Given the description of an element on the screen output the (x, y) to click on. 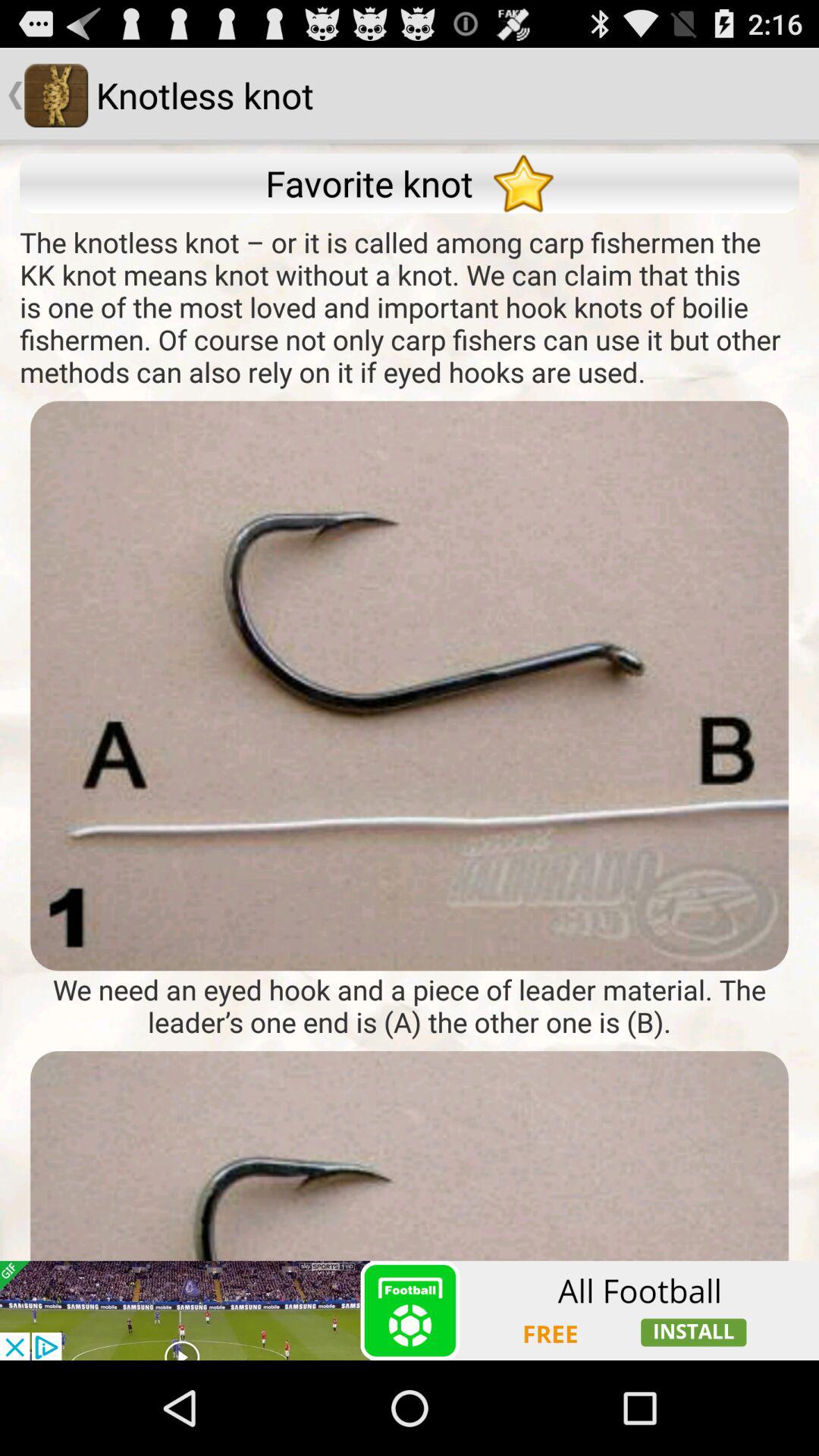
select advertisement (409, 1310)
